Given the description of an element on the screen output the (x, y) to click on. 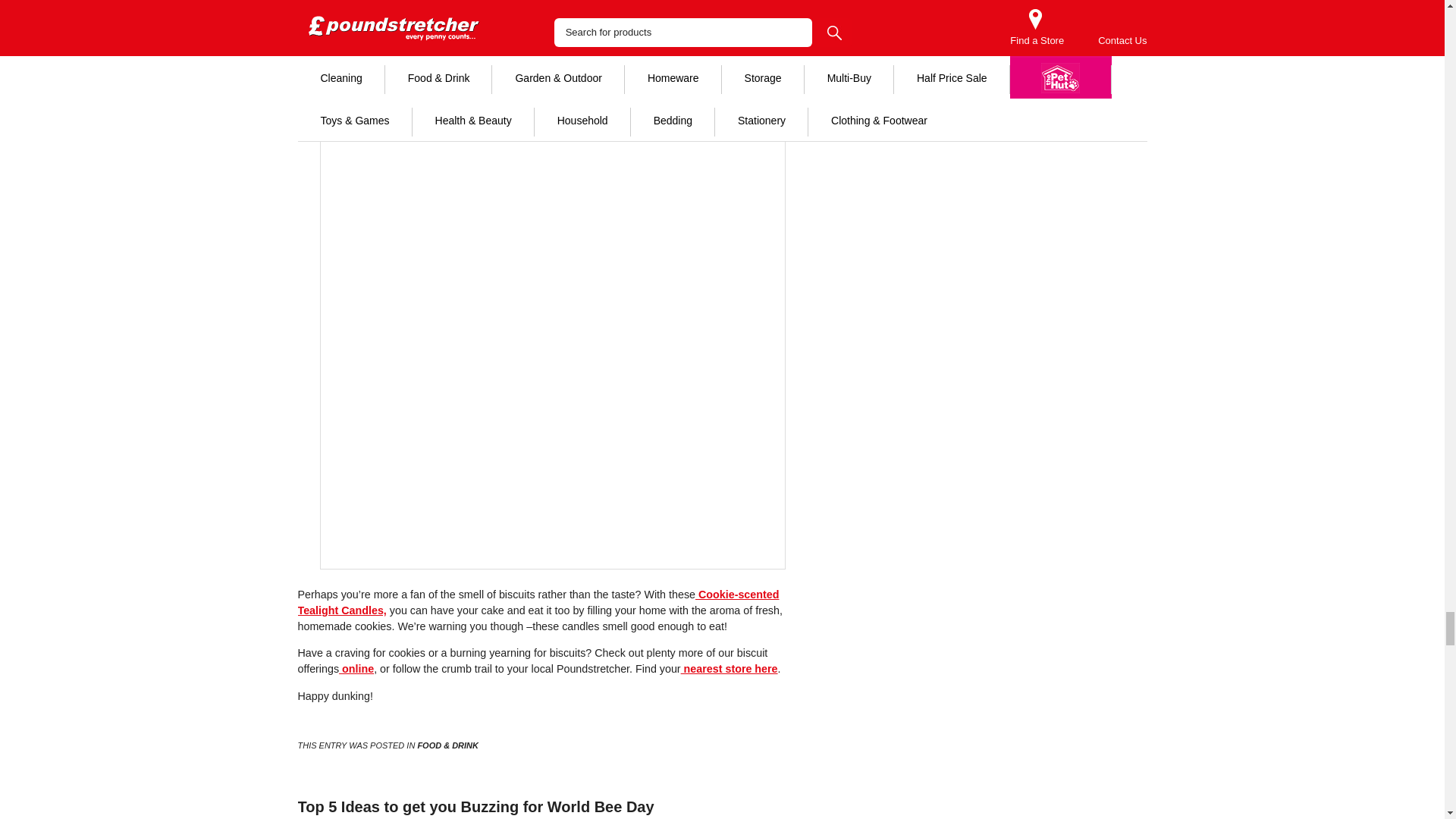
Top 5 Ideas to get you Buzzing for World Bee Day (475, 806)
